Given the description of an element on the screen output the (x, y) to click on. 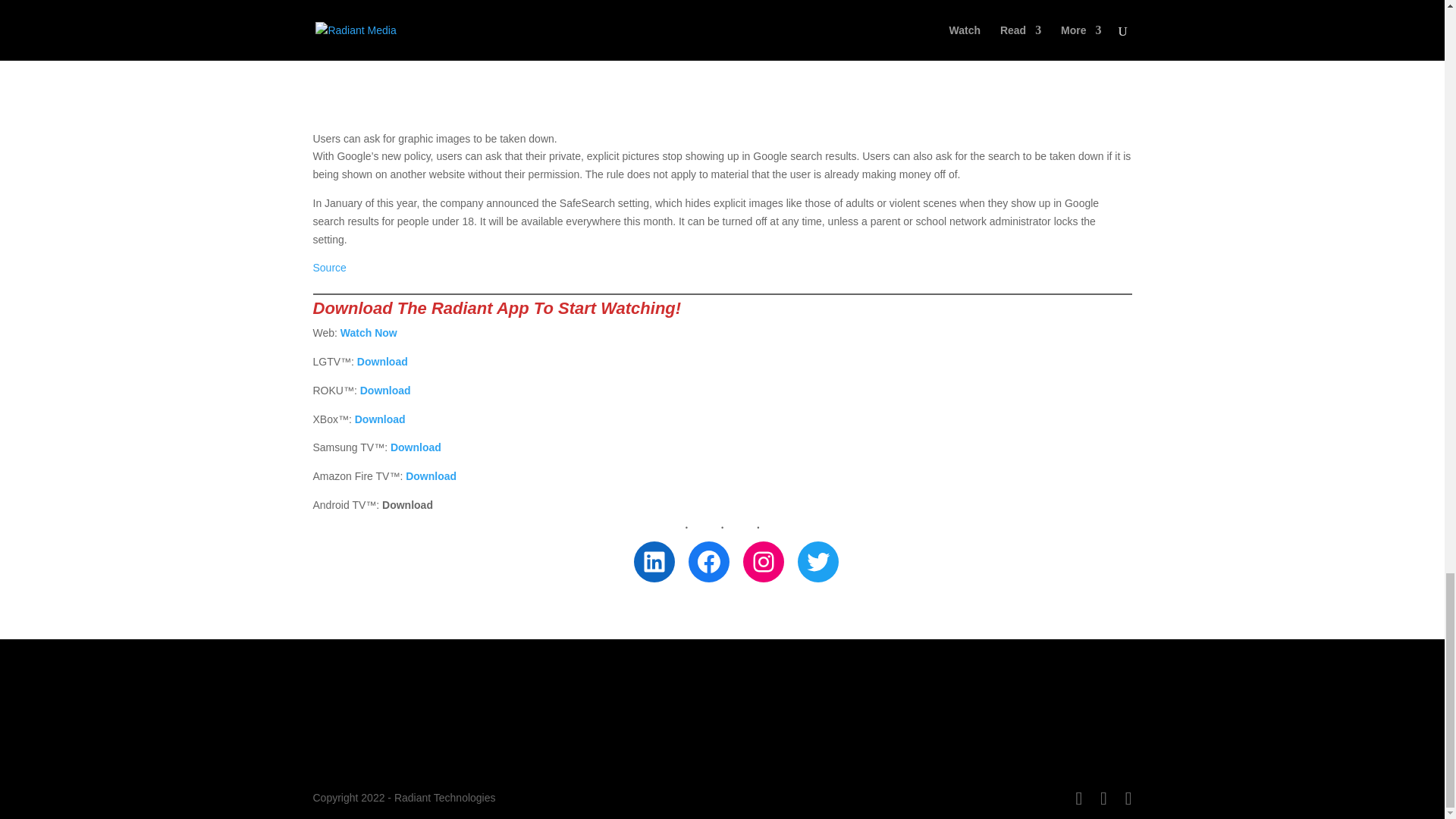
Download (431, 476)
Watch Now (368, 332)
Download (384, 390)
Download (380, 418)
Instagram (763, 561)
Twitter (817, 561)
LinkedIn (654, 561)
Download (415, 447)
Source (329, 267)
Facebook (708, 561)
